Given the description of an element on the screen output the (x, y) to click on. 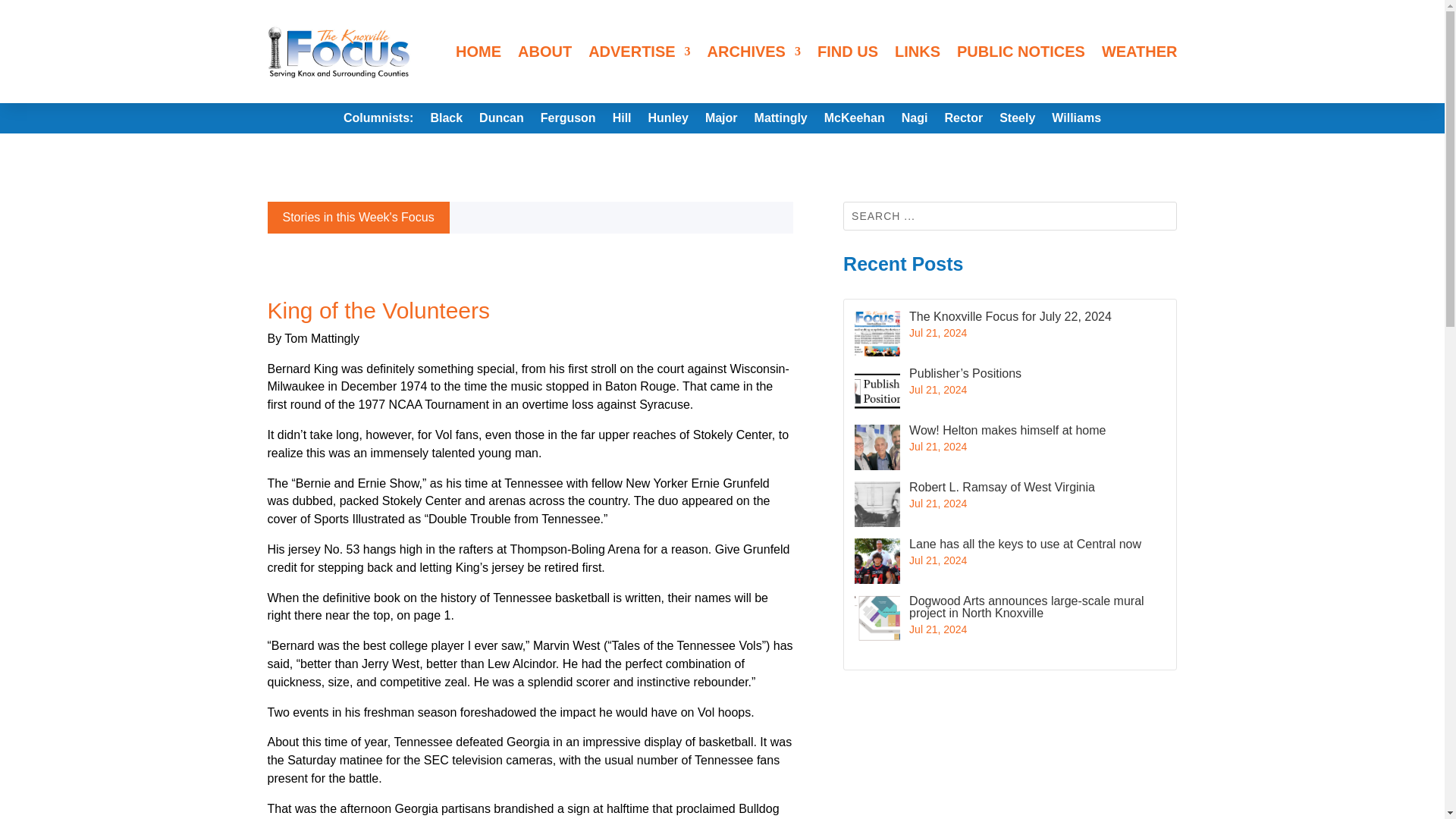
ADVERTISE (639, 51)
FIND US (846, 51)
PUBLIC NOTICES (1020, 51)
ABOUT (545, 51)
WEATHER (1139, 51)
ARCHIVES (753, 51)
